Given the description of an element on the screen output the (x, y) to click on. 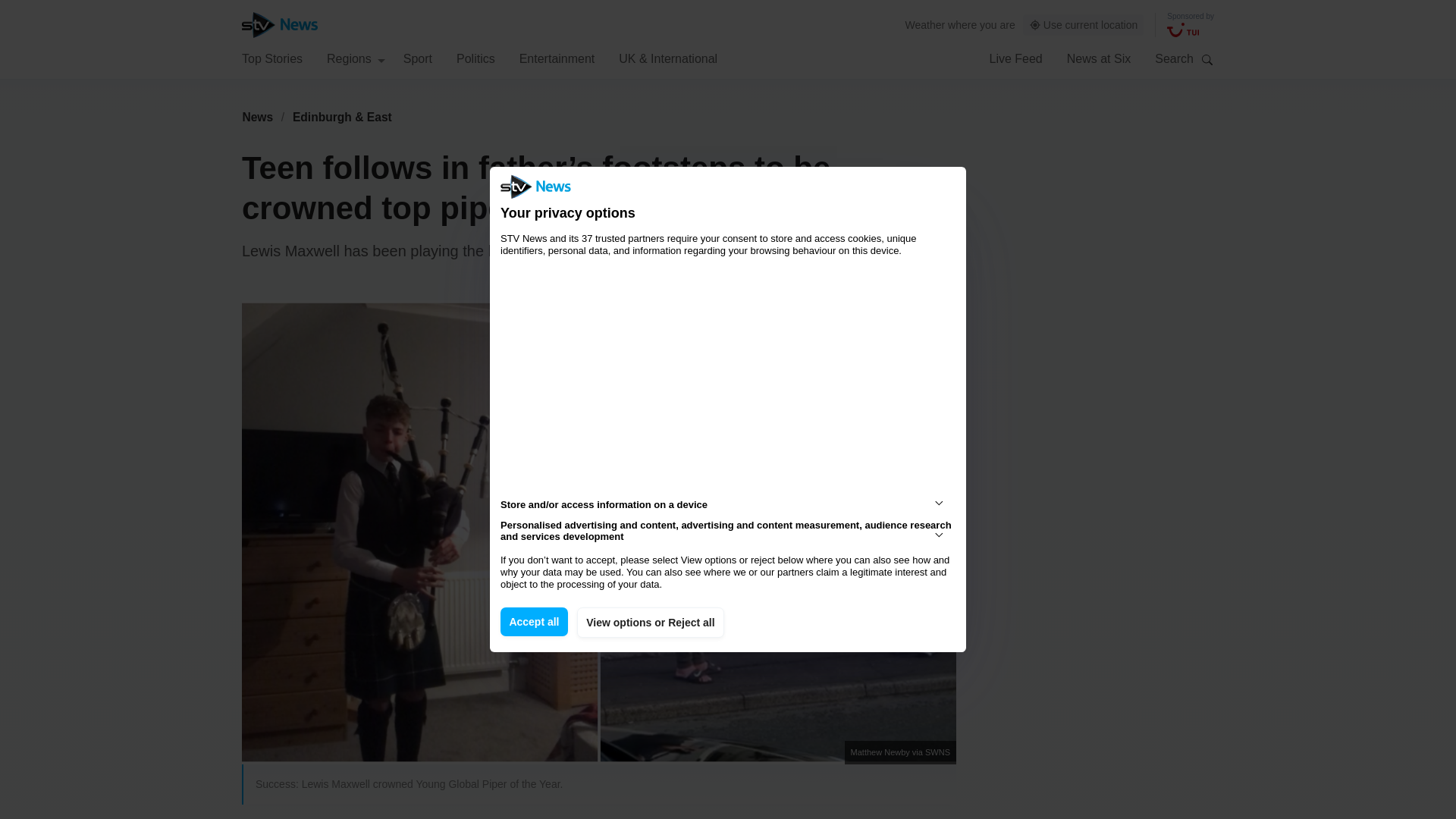
Entertainment (557, 57)
Top Stories (271, 57)
Use current location (1083, 25)
News (257, 116)
Search (1206, 59)
Regions (355, 57)
Live Feed (1015, 57)
Weather (924, 24)
Politics (476, 57)
